Given the description of an element on the screen output the (x, y) to click on. 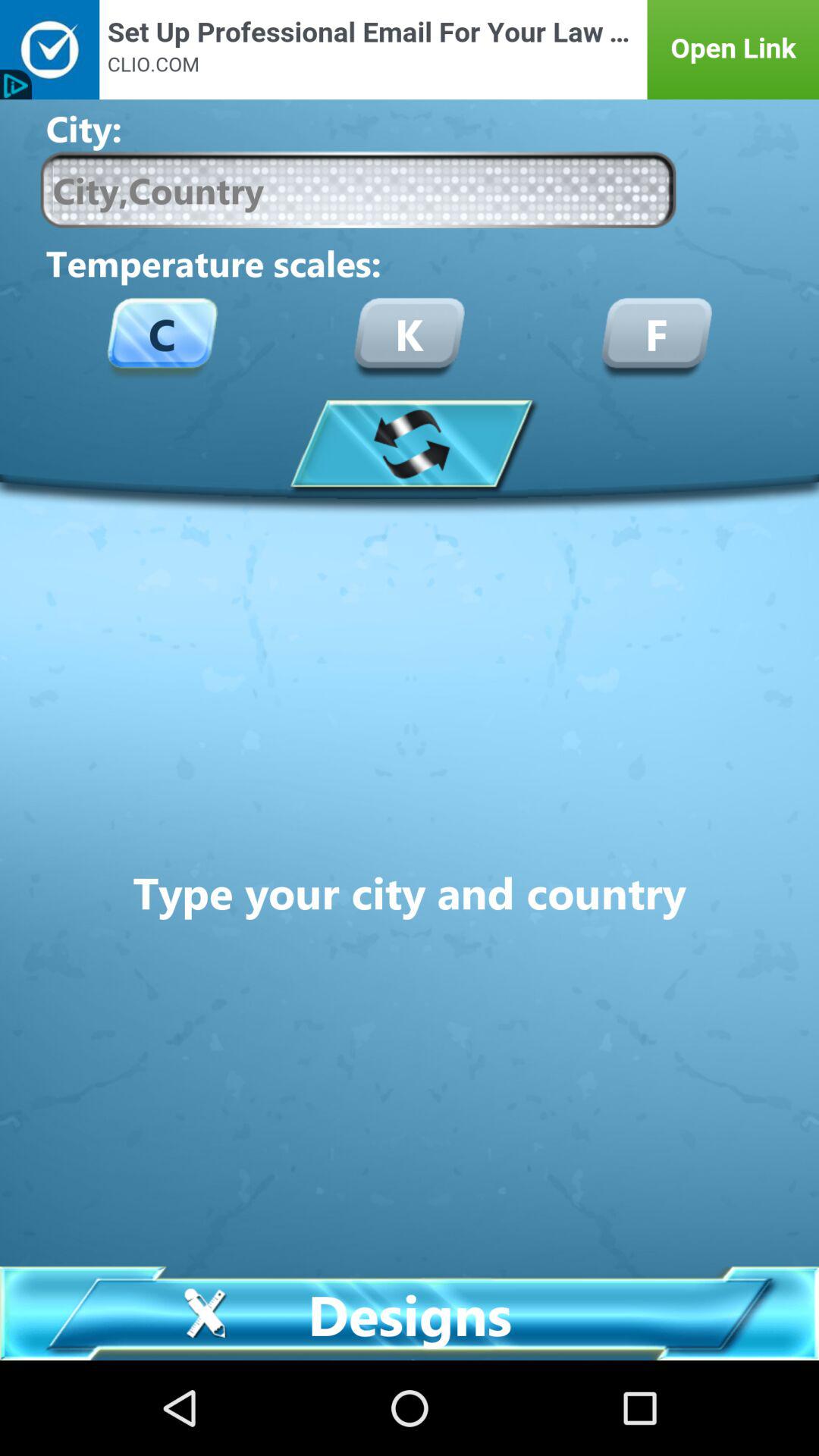
download (409, 443)
